Given the description of an element on the screen output the (x, y) to click on. 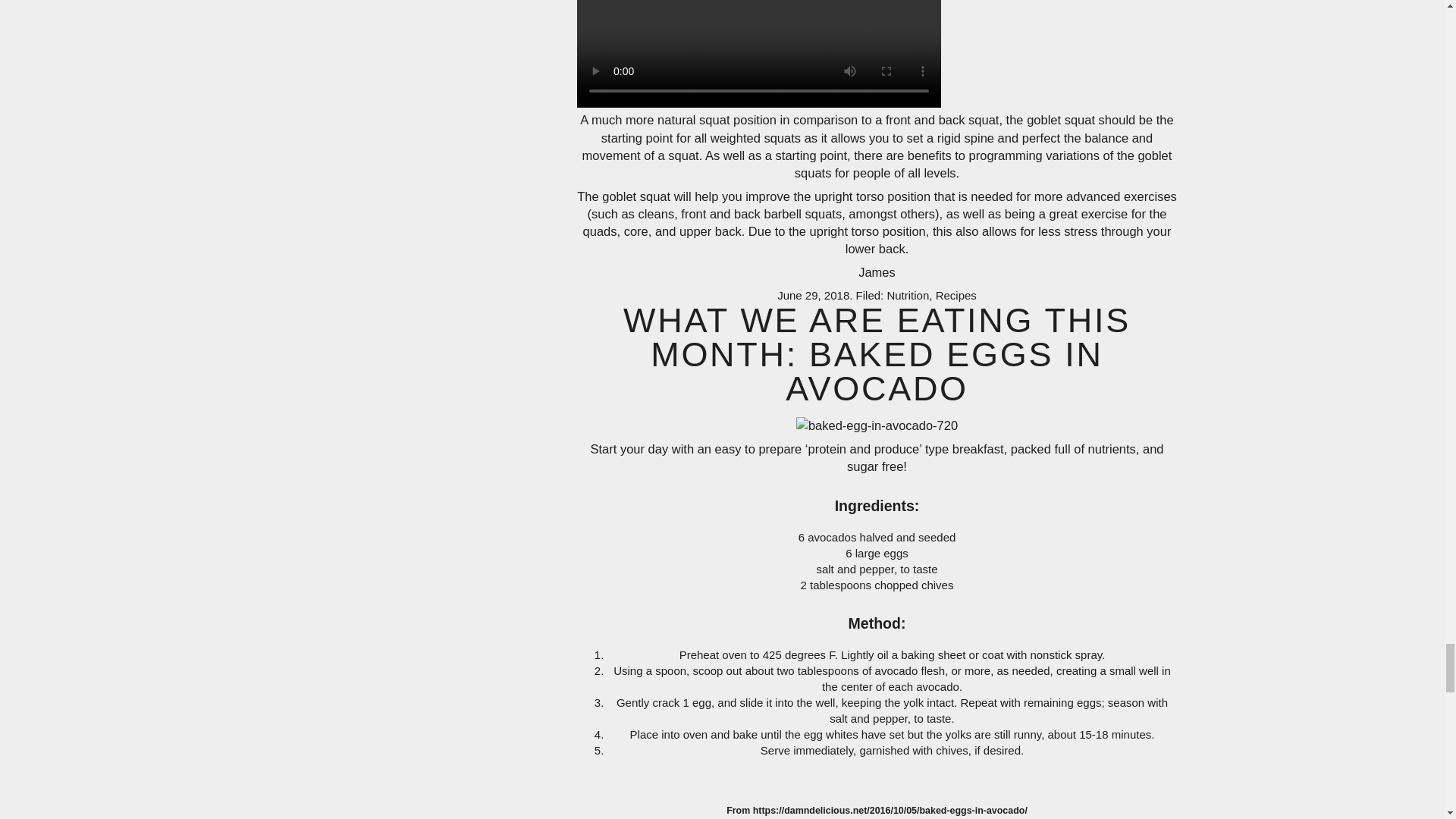
What we are eating this month: Baked Eggs in Avocado (877, 354)
